Given the description of an element on the screen output the (x, y) to click on. 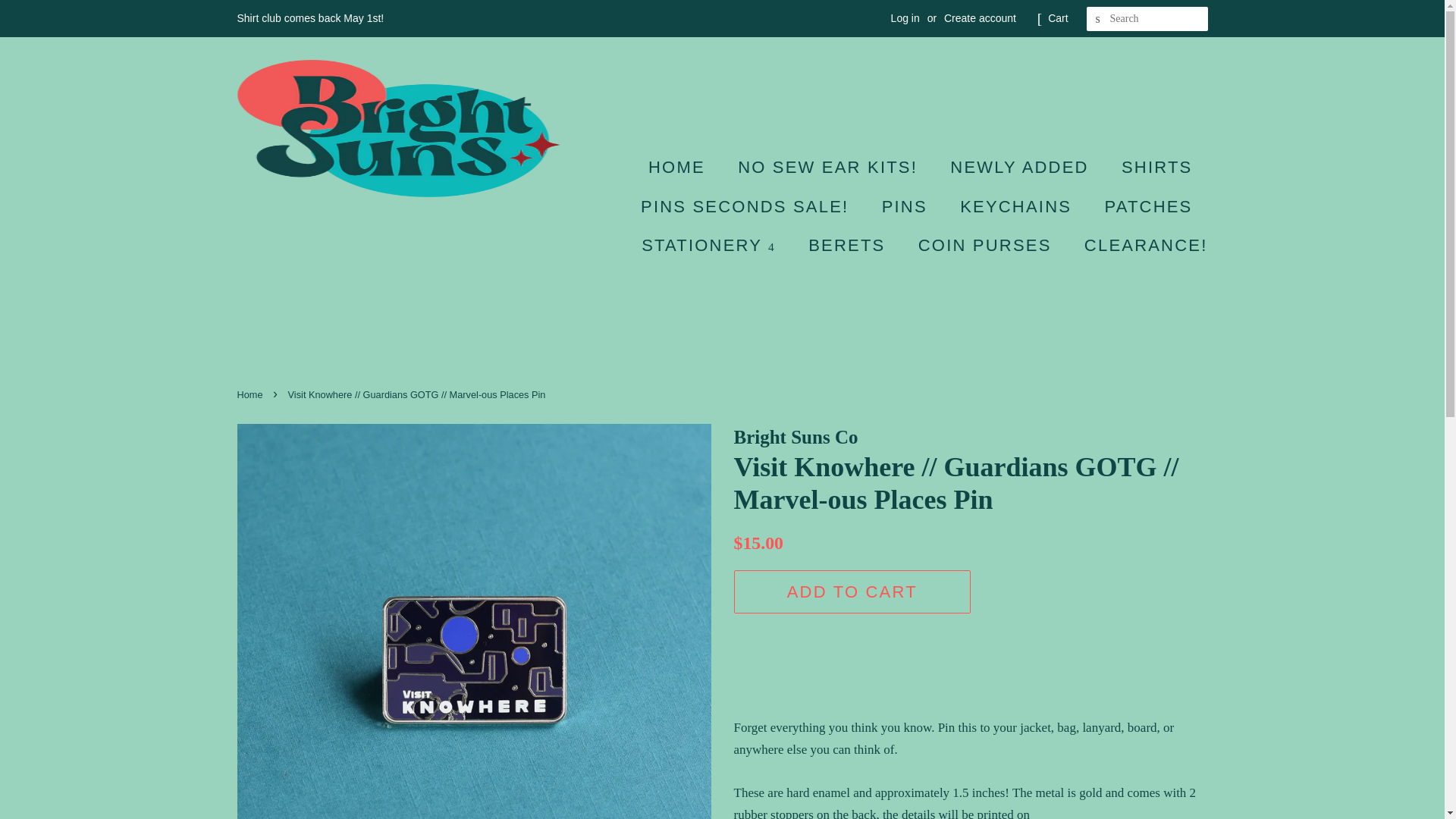
KEYCHAINS (1017, 206)
NO SEW EAR KITS! (829, 167)
Shirt club comes back May 1st! (309, 18)
Log in (905, 18)
BERETS (847, 245)
Cart (1057, 18)
HOME (683, 167)
NEWLY ADDED (1021, 167)
PINS (906, 206)
PATCHES (1150, 206)
